Given the description of an element on the screen output the (x, y) to click on. 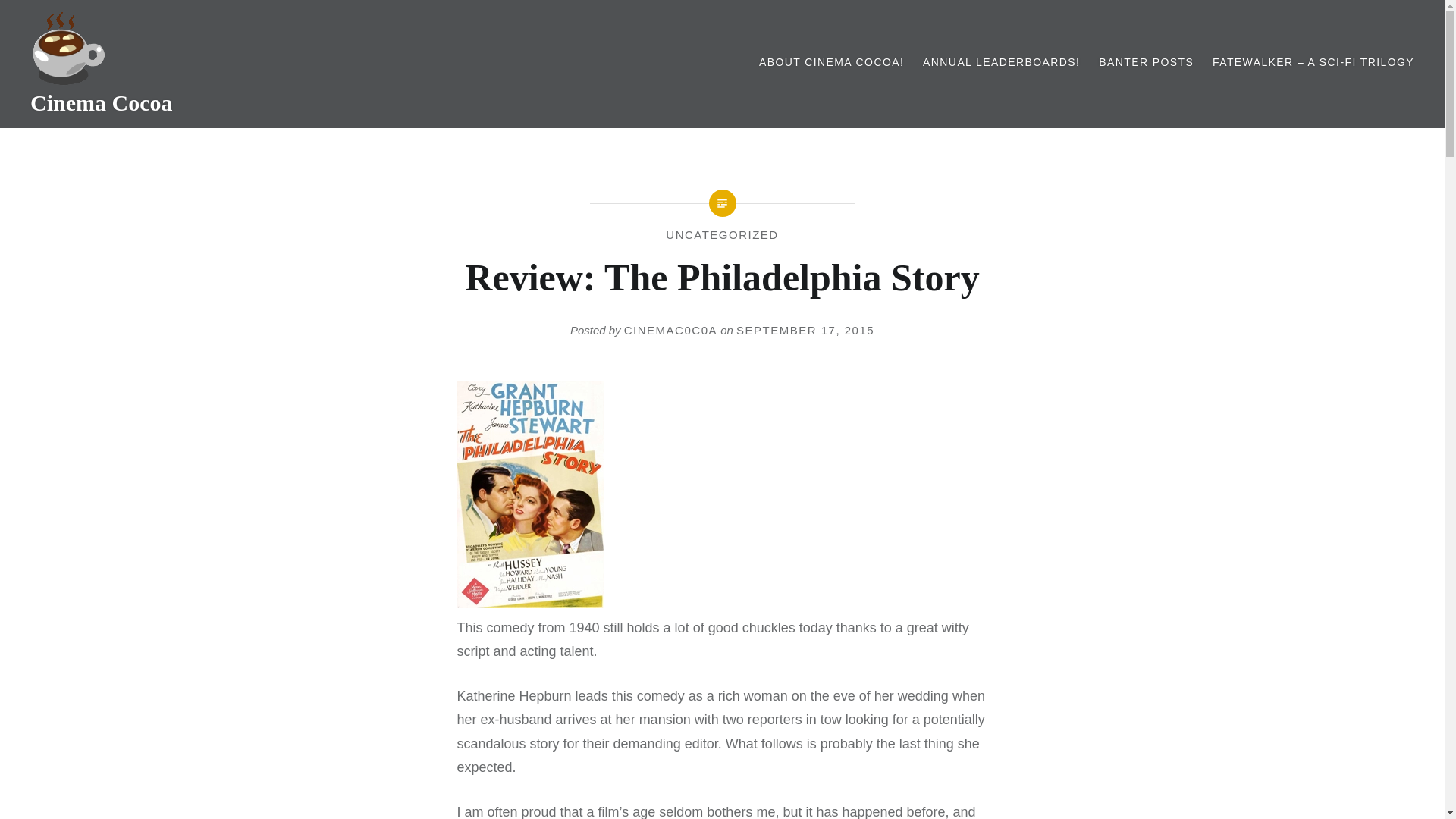
UNCATEGORIZED (721, 234)
ANNUAL LEADERBOARDS! (1001, 62)
ABOUT CINEMA COCOA! (831, 62)
SEPTEMBER 17, 2015 (805, 329)
CINEMAC0C0A (670, 329)
BANTER POSTS (1146, 62)
Cinema Cocoa (100, 102)
